Given the description of an element on the screen output the (x, y) to click on. 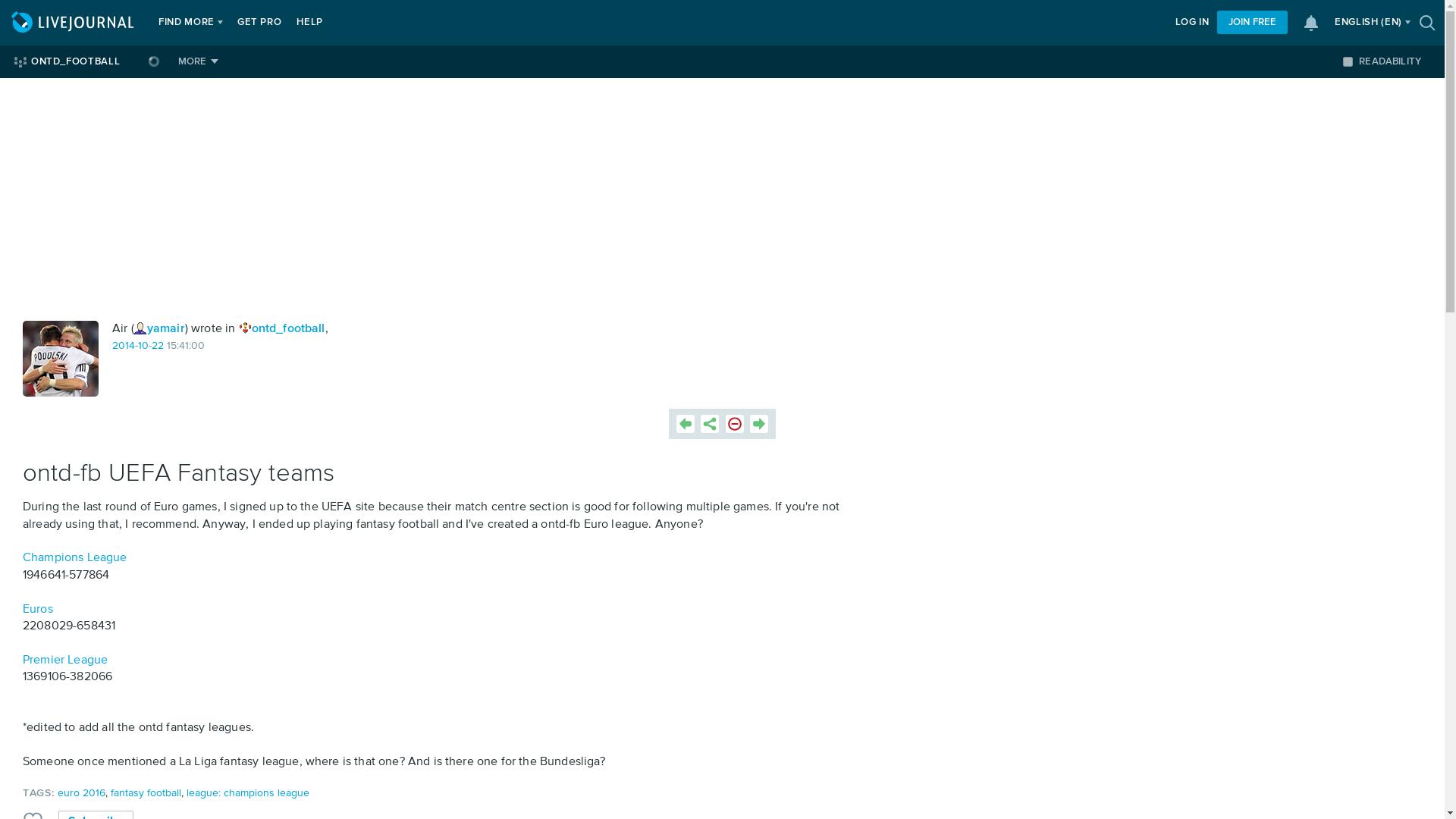
JOIN FREE (1252, 22)
on (1347, 61)
LOG IN (1192, 22)
LIVEJOURNAL (73, 22)
FIND MORE (186, 22)
Share (709, 423)
Previous (685, 423)
GET PRO (259, 22)
MORE (197, 61)
HELP (309, 22)
